Given the description of an element on the screen output the (x, y) to click on. 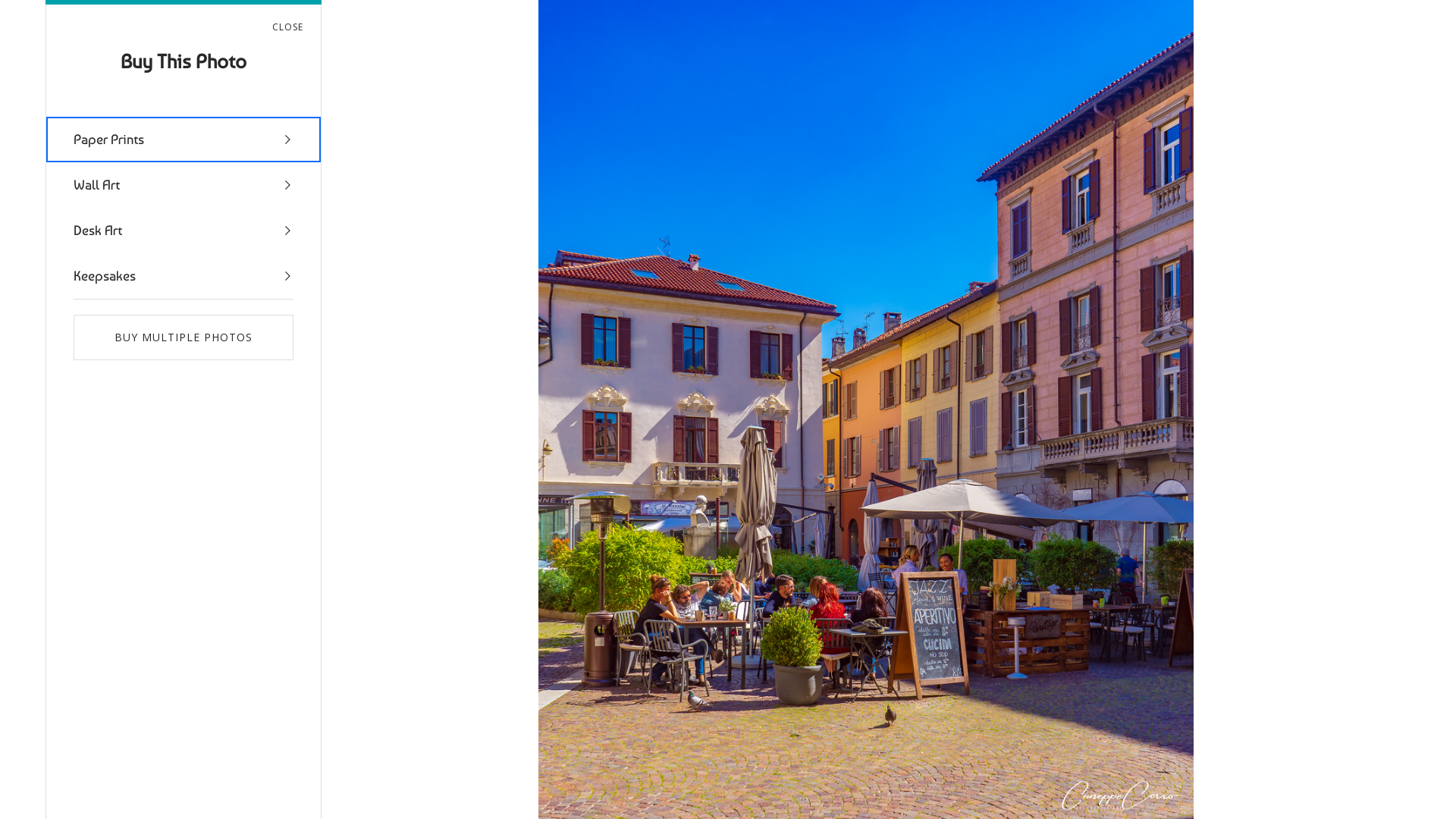
HOME Element type: text (689, 15)
AERIAL Element type: text (1038, 15)
INSTAGRAM Element type: text (1104, 15)
Share Gallery Element type: hover (1238, 473)
Wall Art Element type: text (183, 184)
BUY PHOTOS Element type: text (1361, 473)
Desk Art Element type: text (183, 230)
WILDLIFE Element type: text (920, 15)
BOOKSTORE Element type: text (1186, 15)
SWITZERLAND Element type: text (840, 15)
LANDSCAPE Element type: text (754, 15)
TRAVEL Element type: text (982, 15)
CLOSE Element type: text (296, 27)
Slideshow Element type: hover (1276, 473)
Paper Prints Element type: text (183, 139)
BUY MULTIPLE PHOTOS Element type: text (183, 337)
Keepsakes Element type: text (183, 275)
